Given the description of an element on the screen output the (x, y) to click on. 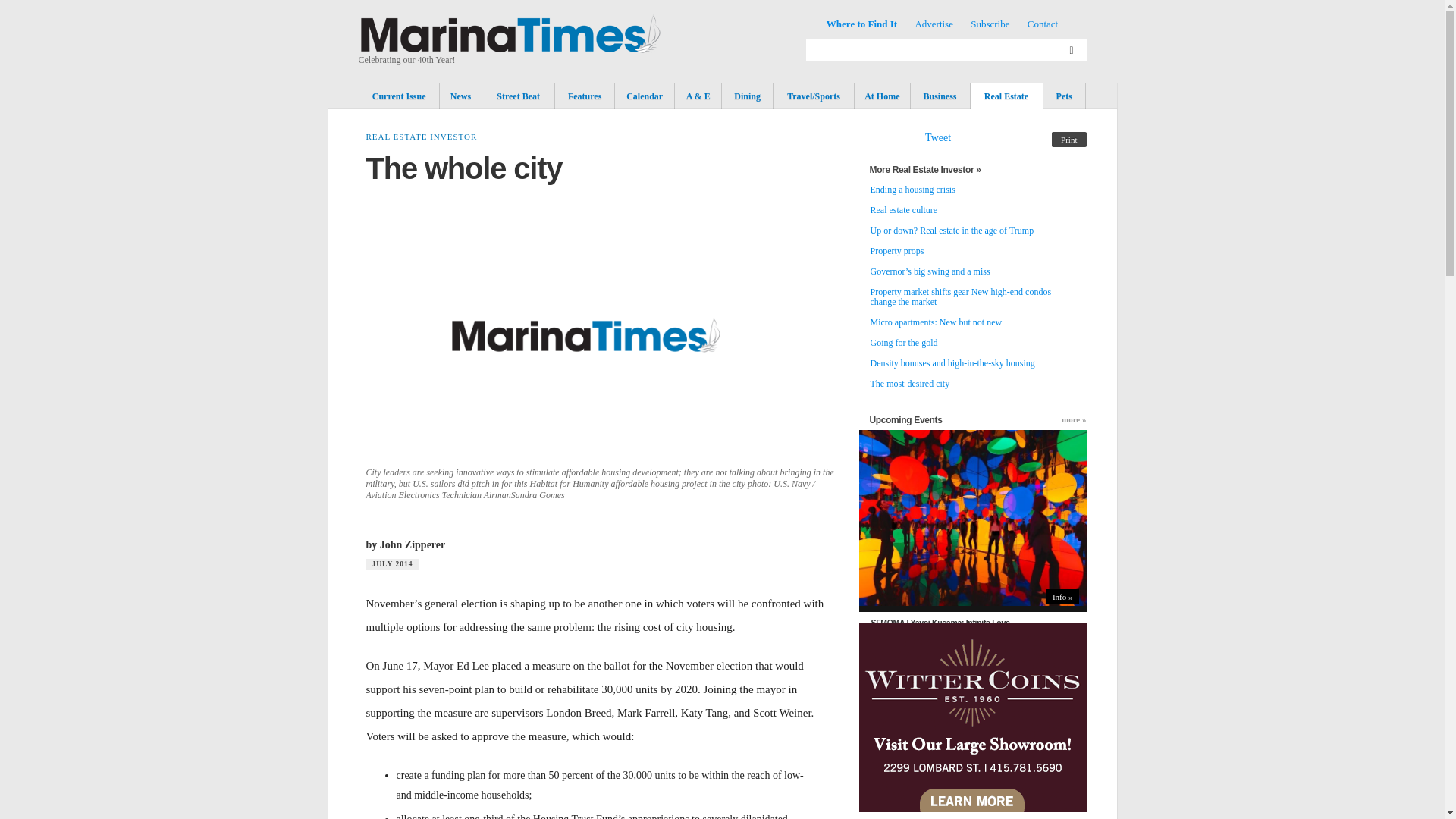
Street Beat (517, 95)
Advertise (933, 23)
Subscribe (990, 23)
Where to Find It (861, 23)
News (460, 95)
Current Issue (399, 95)
Features (584, 95)
Contact (1042, 23)
